Given the description of an element on the screen output the (x, y) to click on. 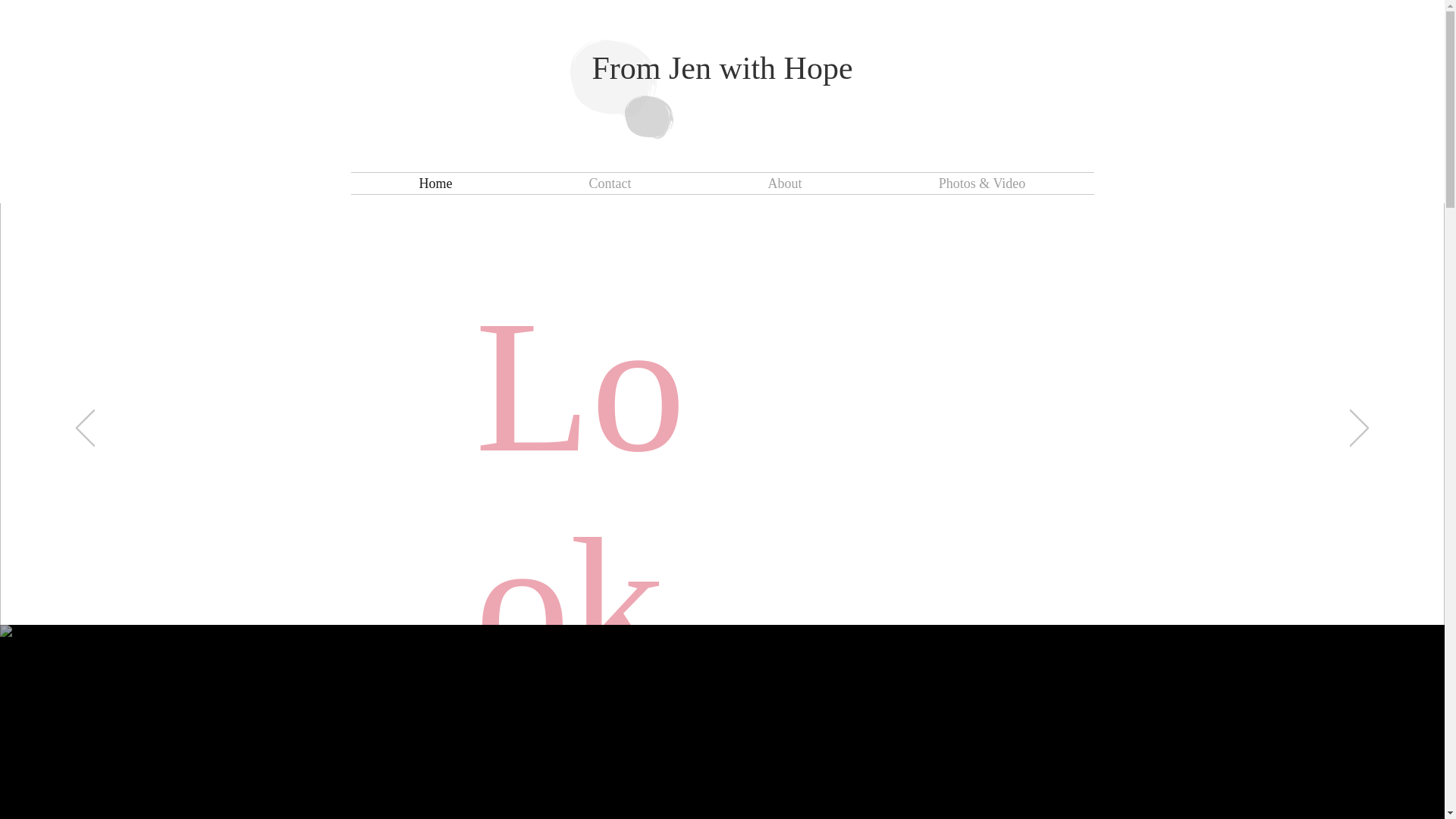
About (783, 183)
Home (434, 183)
Contact (608, 183)
